Given the description of an element on the screen output the (x, y) to click on. 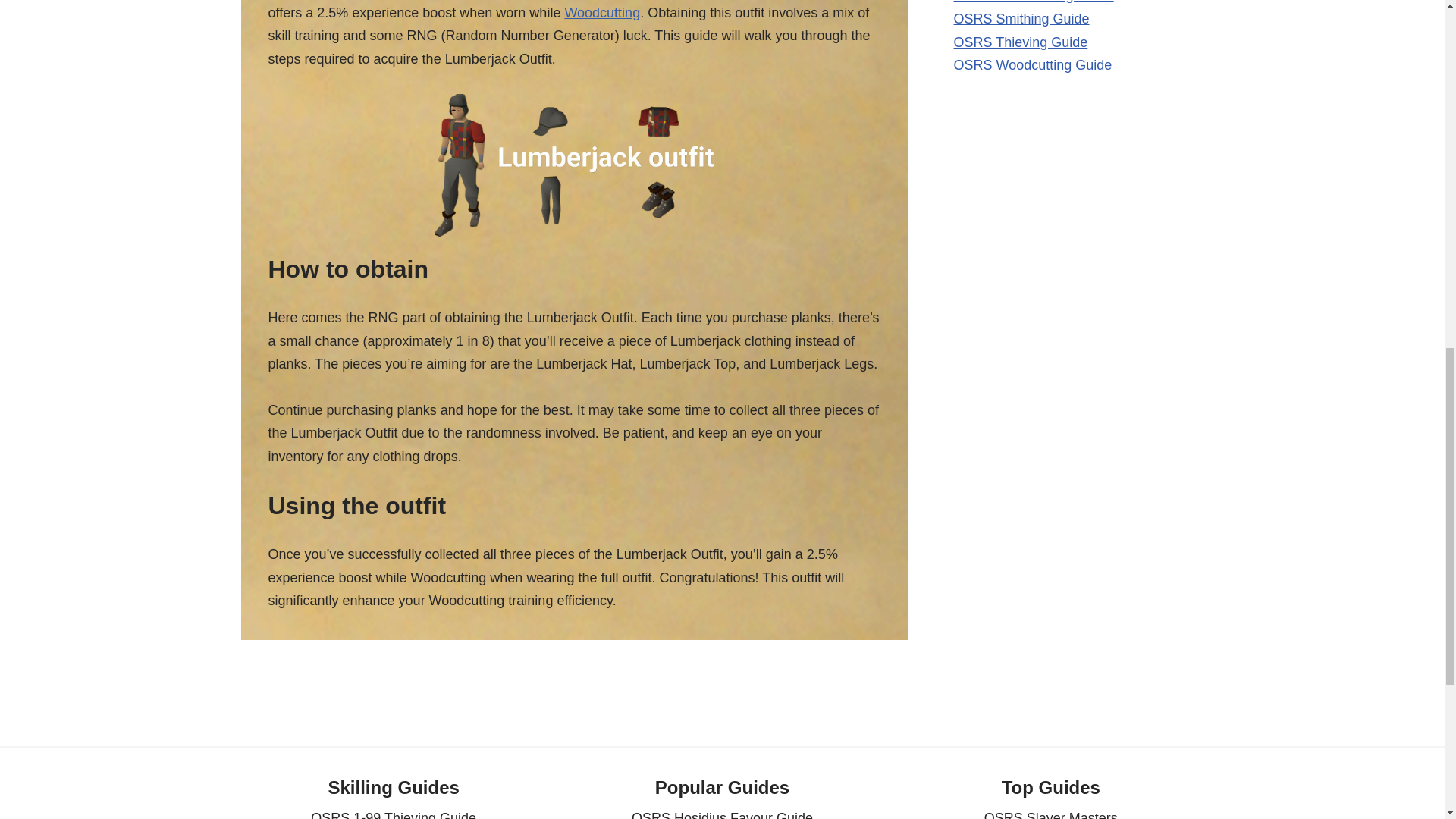
Woodcutting (602, 12)
